Given the description of an element on the screen output the (x, y) to click on. 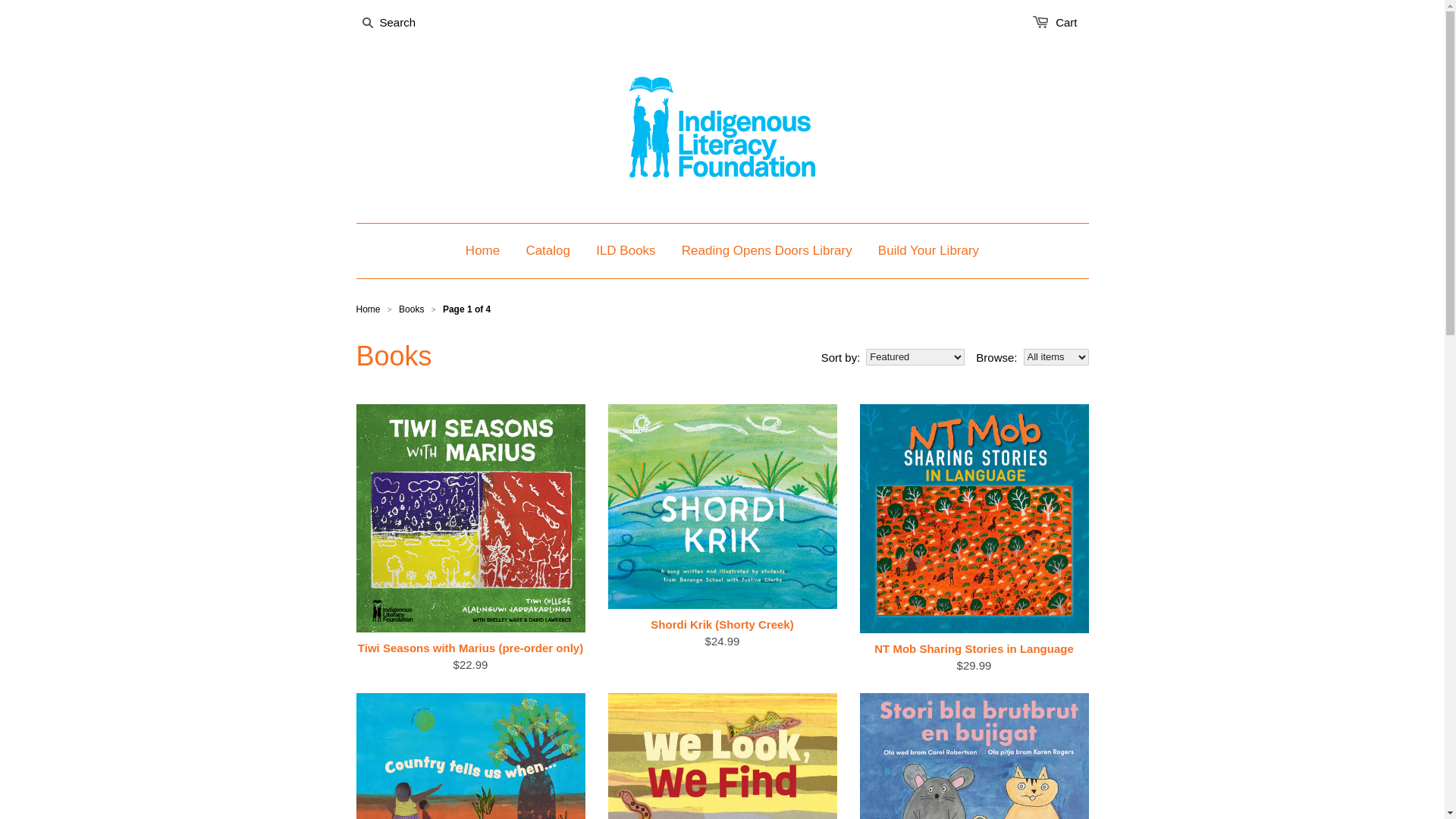
ILD Books Element type: text (625, 250)
Shordi Krik (Shorty Creek)
$24.99 Element type: text (722, 632)
Catalog Element type: text (547, 250)
NT Mob Sharing Stories in Language
$29.99 Element type: text (973, 657)
Reading Opens Doors Library Element type: text (766, 250)
Home Element type: text (368, 309)
Tiwi Seasons with Marius (pre-order only)
$22.99 Element type: text (470, 656)
Build Your Library Element type: text (928, 250)
Home Element type: text (482, 250)
Cart Element type: text (1065, 21)
Books Element type: text (410, 309)
